Given the description of an element on the screen output the (x, y) to click on. 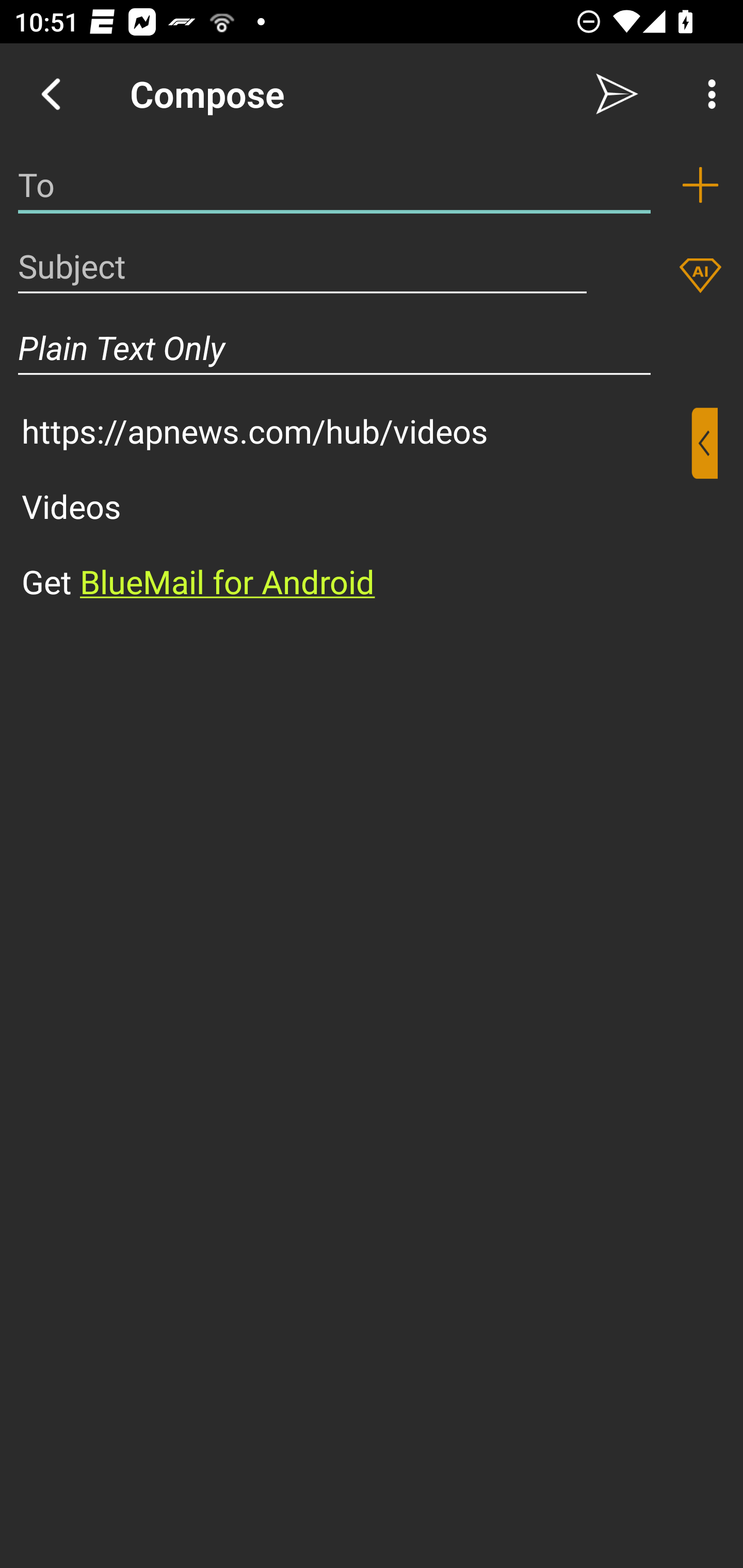
Navigate up (50, 93)
Send (616, 93)
More Options (706, 93)
To (334, 184)
Add recipient (To) (699, 184)
Subject (302, 266)
Plain Text Only (334, 347)
